Given the description of an element on the screen output the (x, y) to click on. 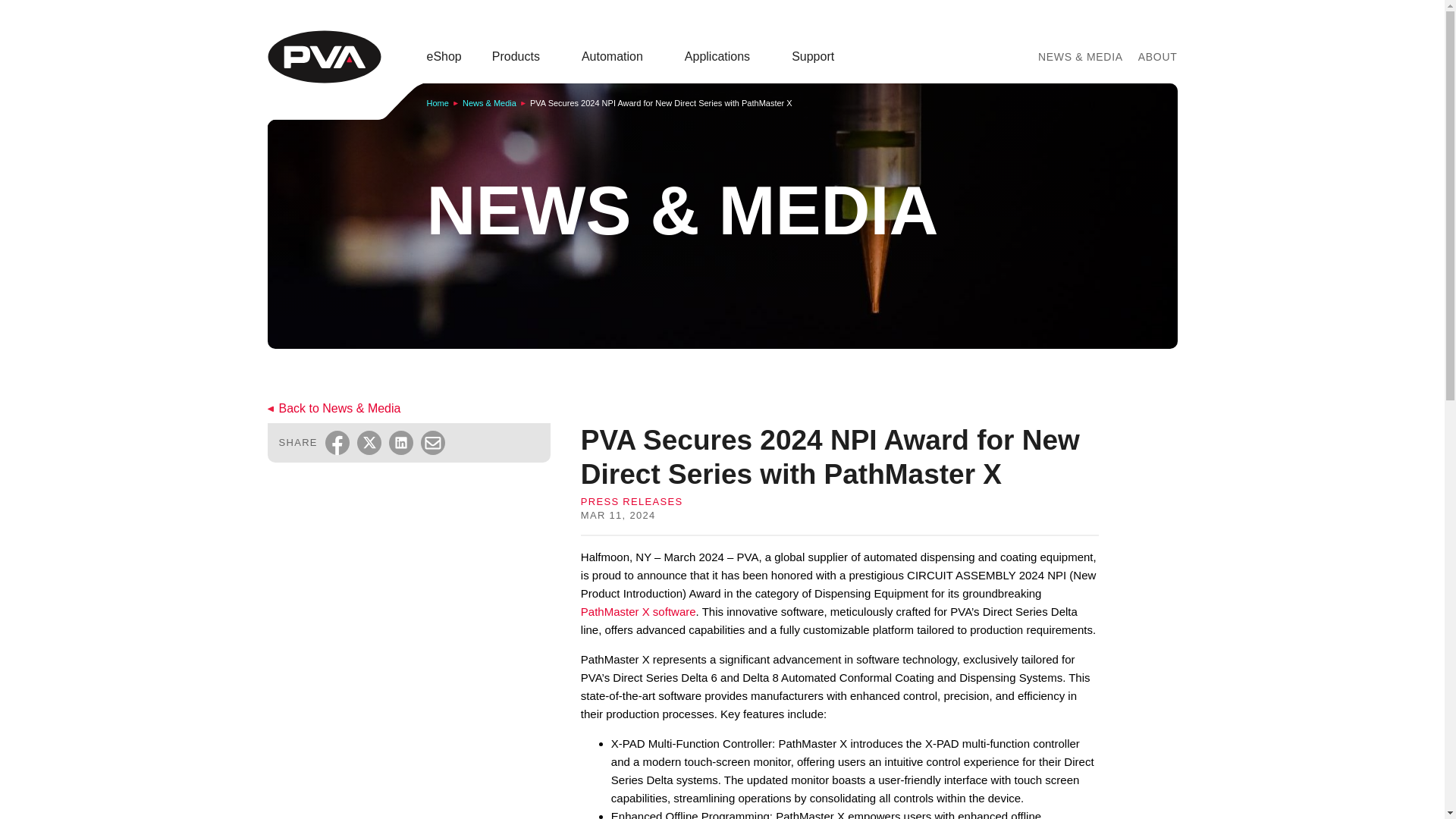
Support (818, 56)
eShop (443, 56)
Automation (616, 56)
Products (521, 56)
Applications (722, 56)
